Given the description of an element on the screen output the (x, y) to click on. 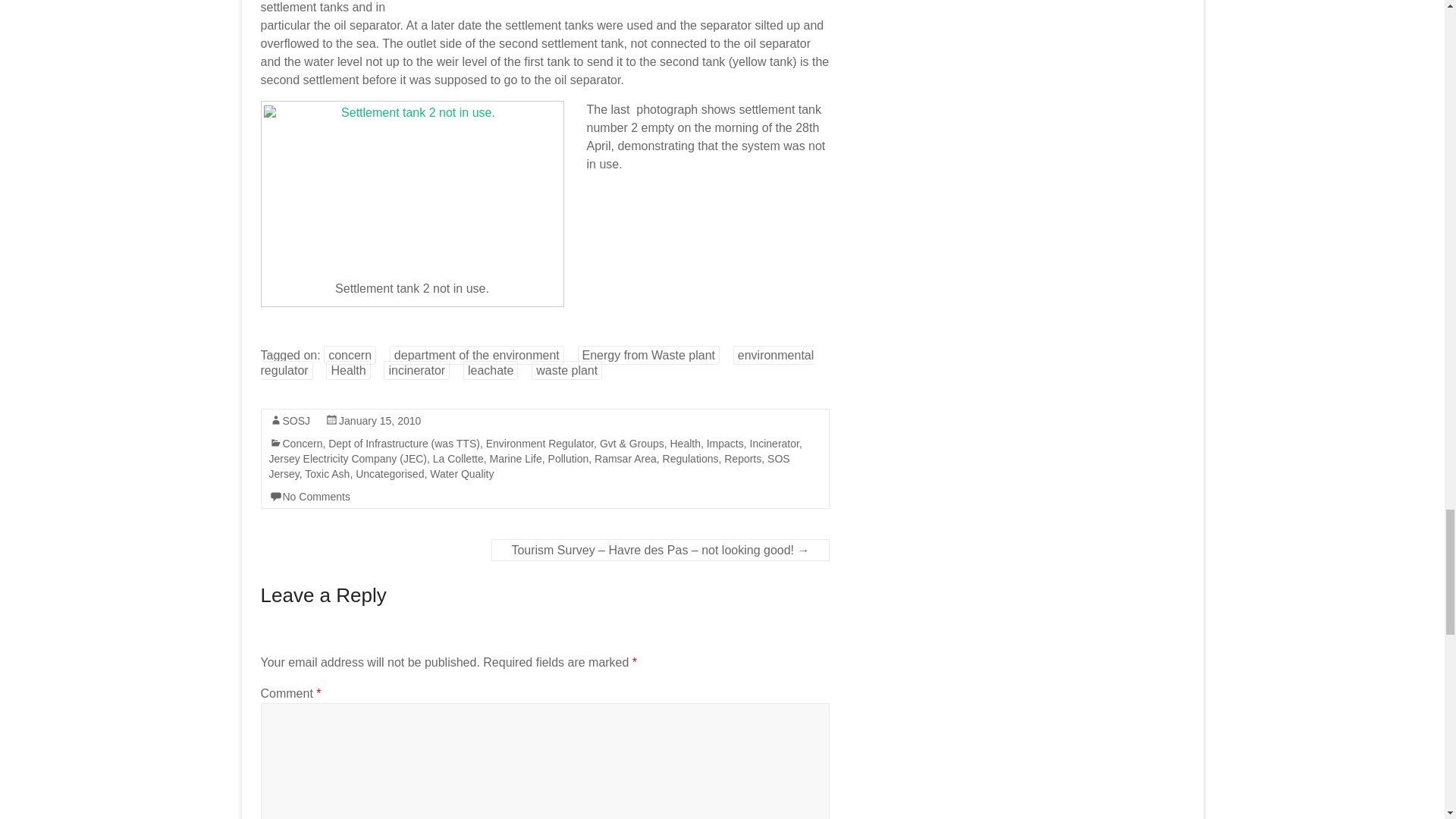
Energy from Waste plant (648, 354)
4:13 pm (379, 420)
environmental regulator (536, 362)
department of the environment (477, 354)
concern (349, 354)
